Given the description of an element on the screen output the (x, y) to click on. 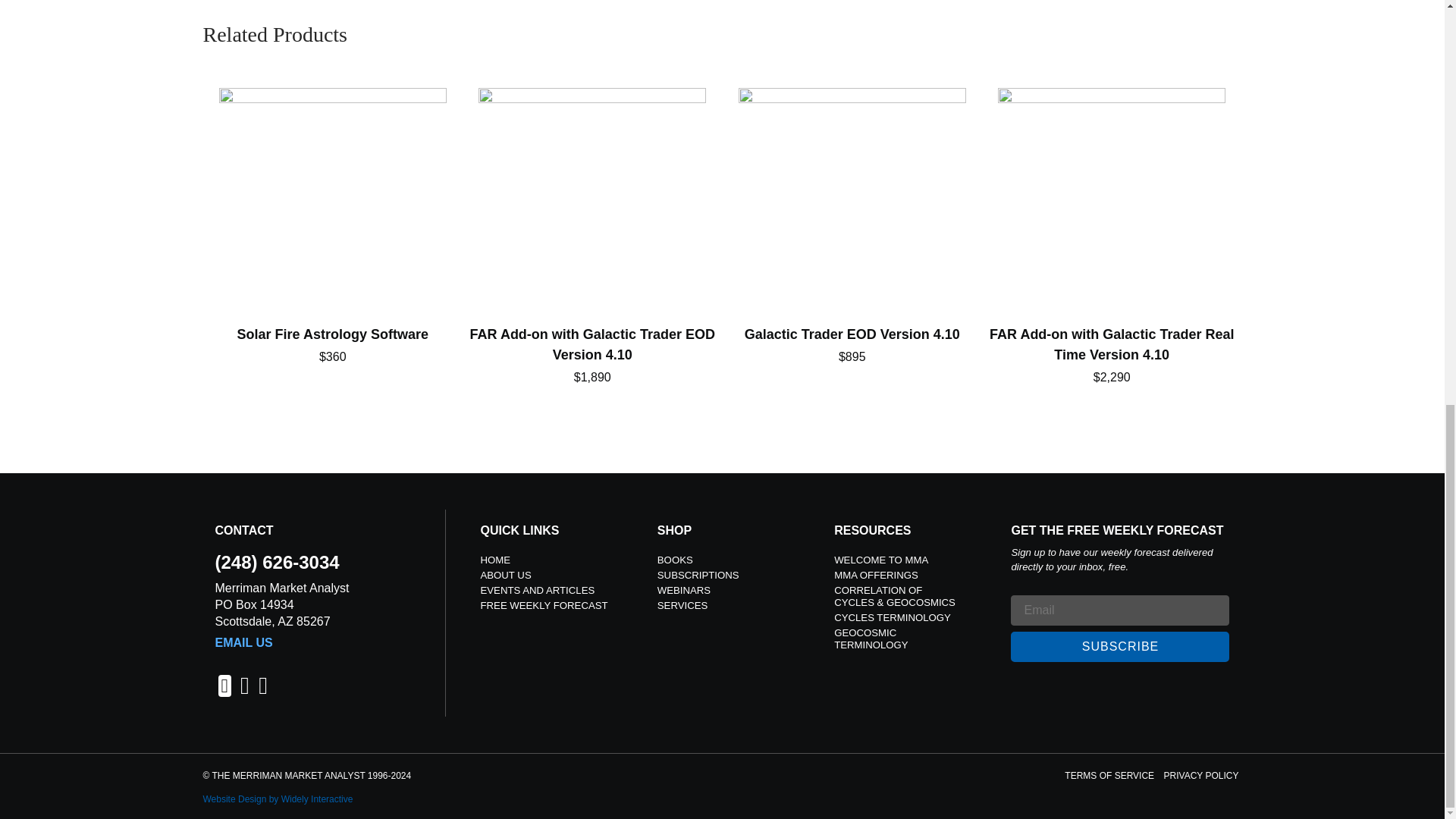
EMAIL US (244, 643)
FAR Add-on with Galactic Trader Real Time Version 4.10 (1112, 236)
Subscribe (1119, 646)
FAR Add-on with Galactic Trader EOD Version 4.10 (592, 236)
HOME (495, 559)
Solar Fire Astrology Software (333, 226)
Galactic Trader EOD Version 4.10 (851, 226)
ABOUT US (505, 574)
